Given the description of an element on the screen output the (x, y) to click on. 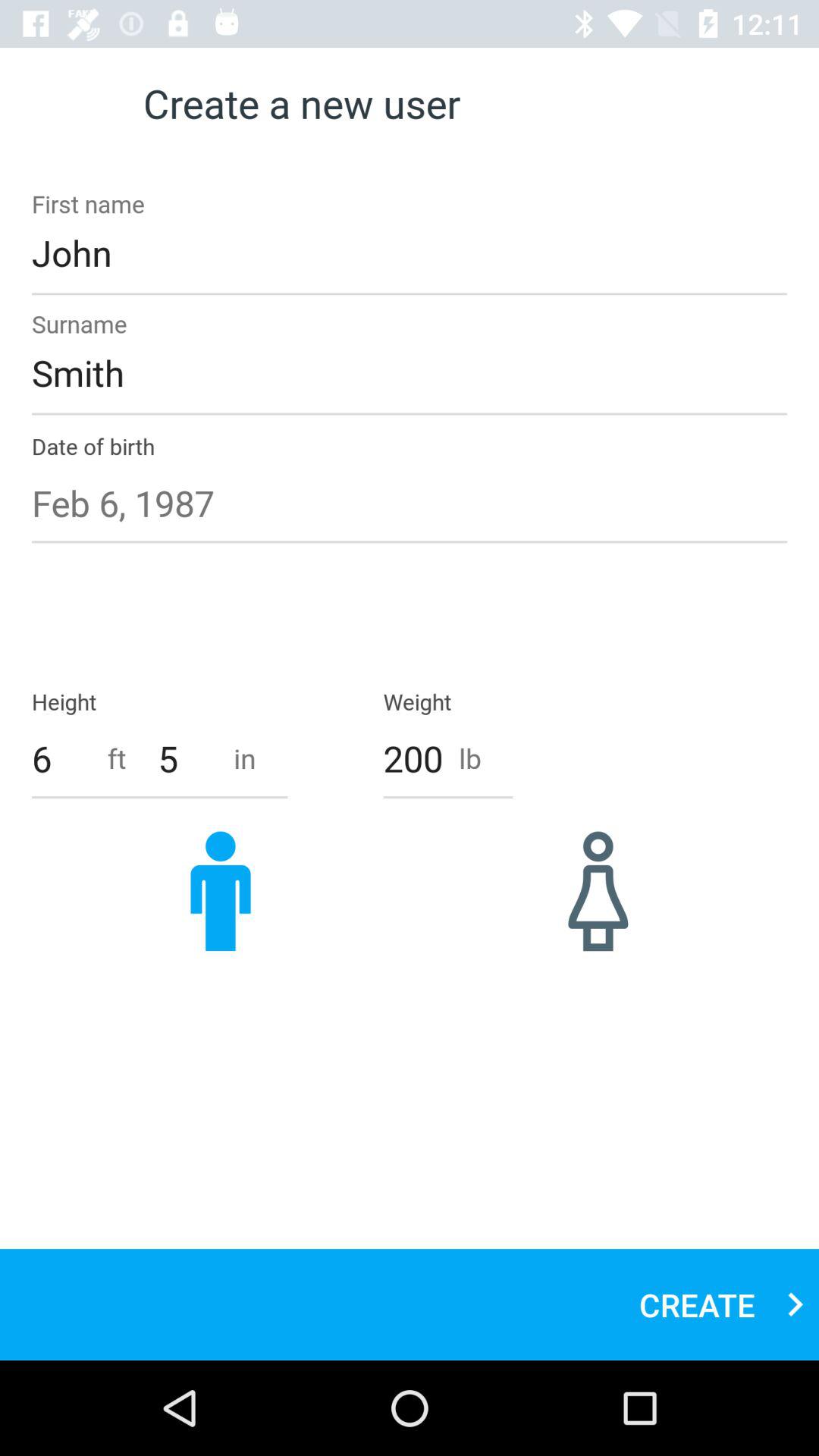
scroll to john item (409, 252)
